Given the description of an element on the screen output the (x, y) to click on. 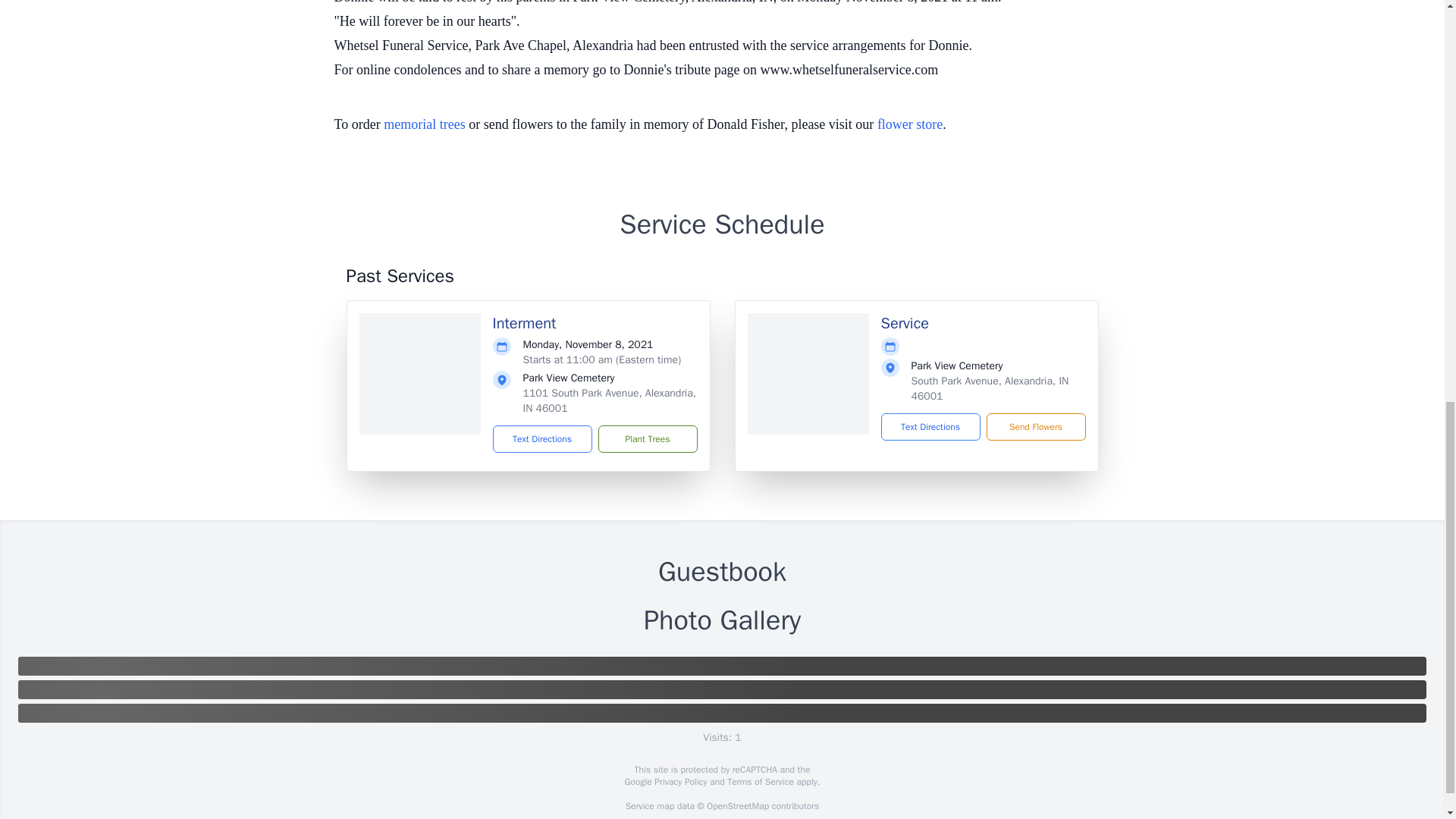
Privacy Policy (679, 781)
Text Directions (542, 438)
1101 South Park Avenue, Alexandria, IN 46001 (608, 400)
flower store (909, 124)
memorial trees (424, 124)
Terms of Service (759, 781)
Text Directions (929, 426)
OpenStreetMap (737, 806)
Send Flowers (1034, 426)
Plant Trees (646, 438)
South Park Avenue, Alexandria, IN 46001 (989, 388)
